Given the description of an element on the screen output the (x, y) to click on. 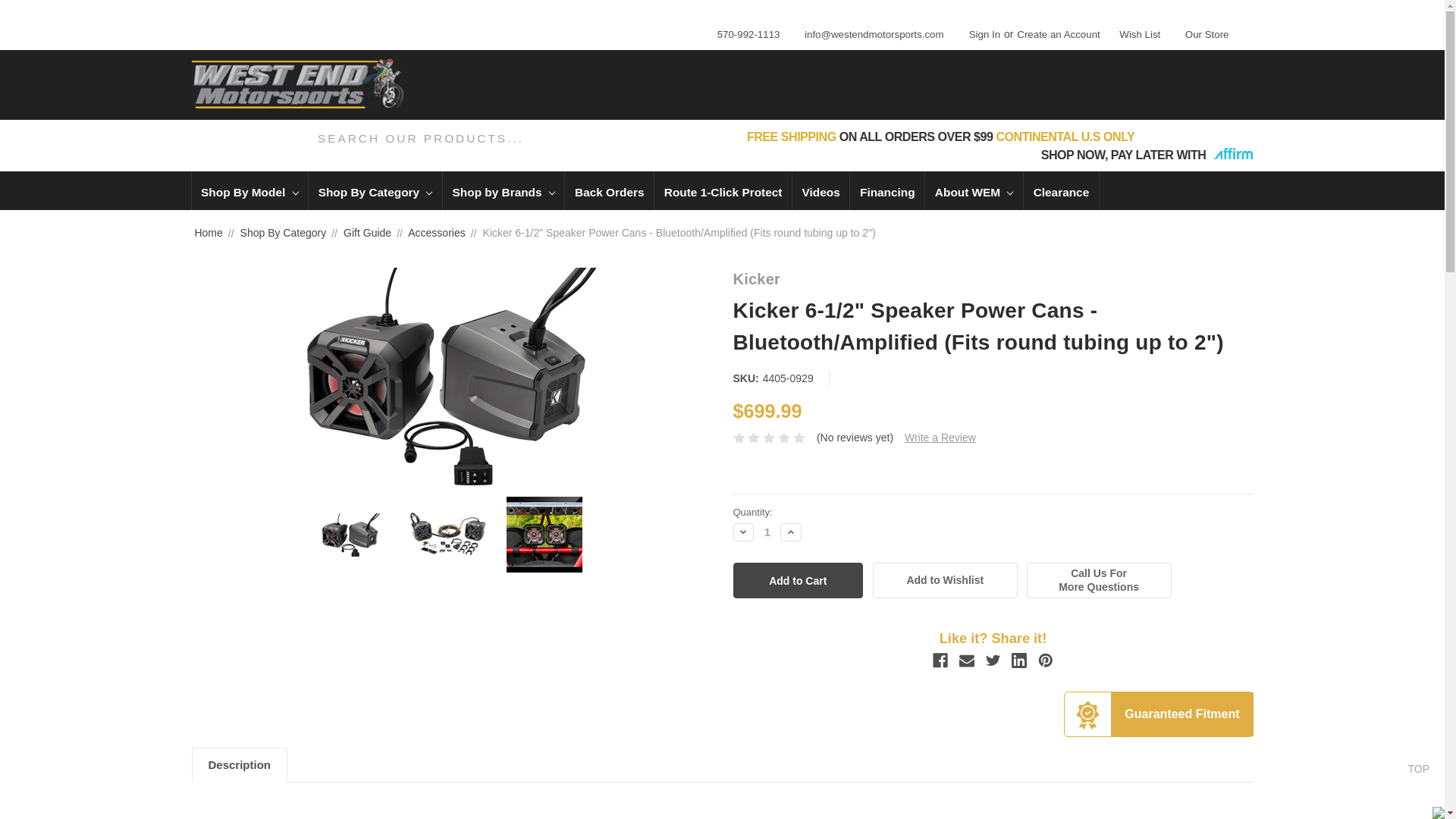
Facebook (940, 660)
SHOP NOW, PAY LATER WITH (1147, 154)
1 (767, 531)
Linkedin (1018, 660)
Add to Wishlist (944, 580)
Shop By Model (248, 190)
Twitter (993, 660)
Add to Cart (797, 580)
Our Store (1202, 32)
Pinterest (1045, 660)
